Given the description of an element on the screen output the (x, y) to click on. 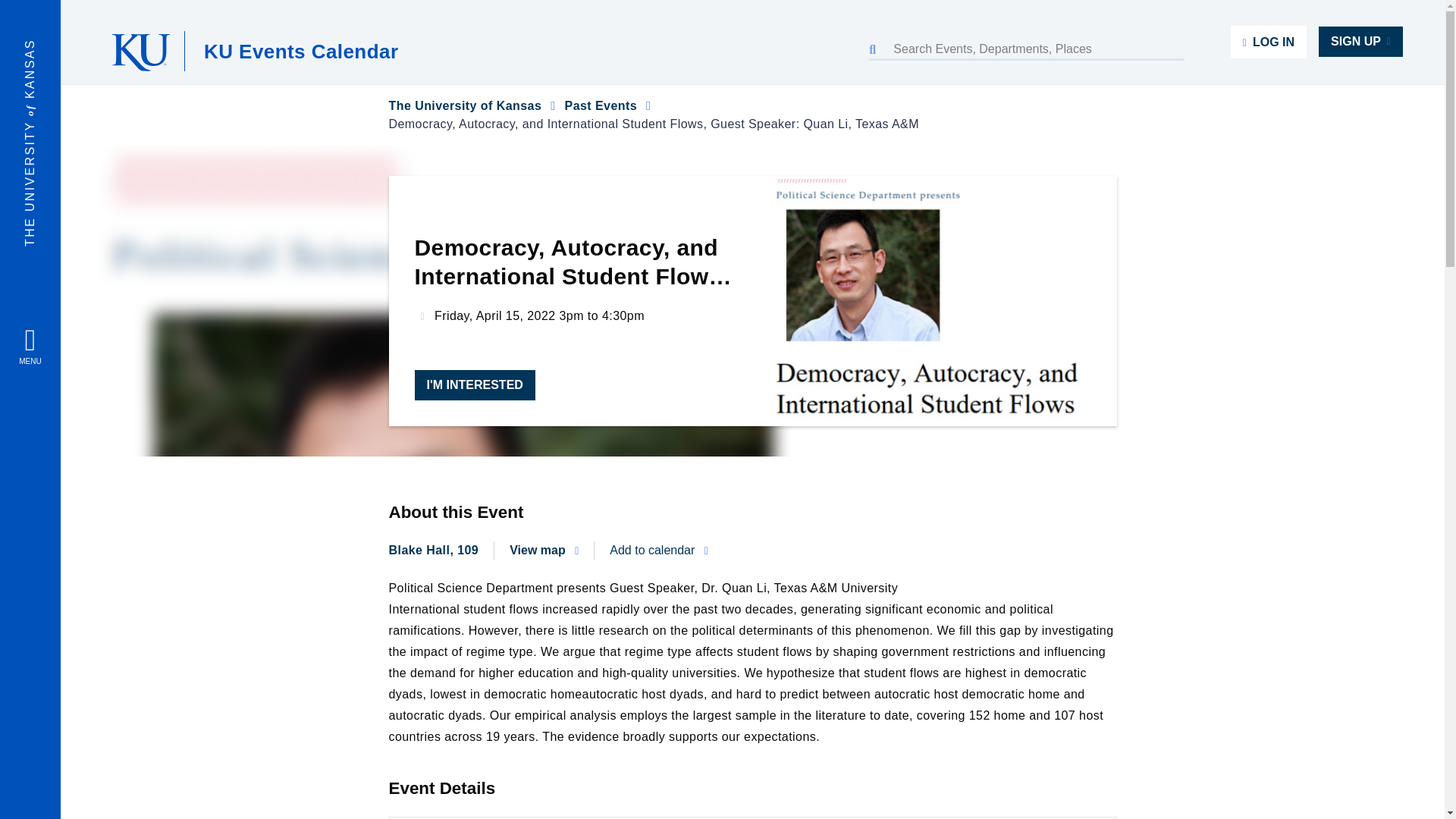
SIGN UP (1361, 41)
I'M INTERESTED (473, 385)
Past Events (600, 105)
KU Events Calendar (300, 50)
LOG IN (1268, 41)
The University of Kansas (464, 105)
